Given the description of an element on the screen output the (x, y) to click on. 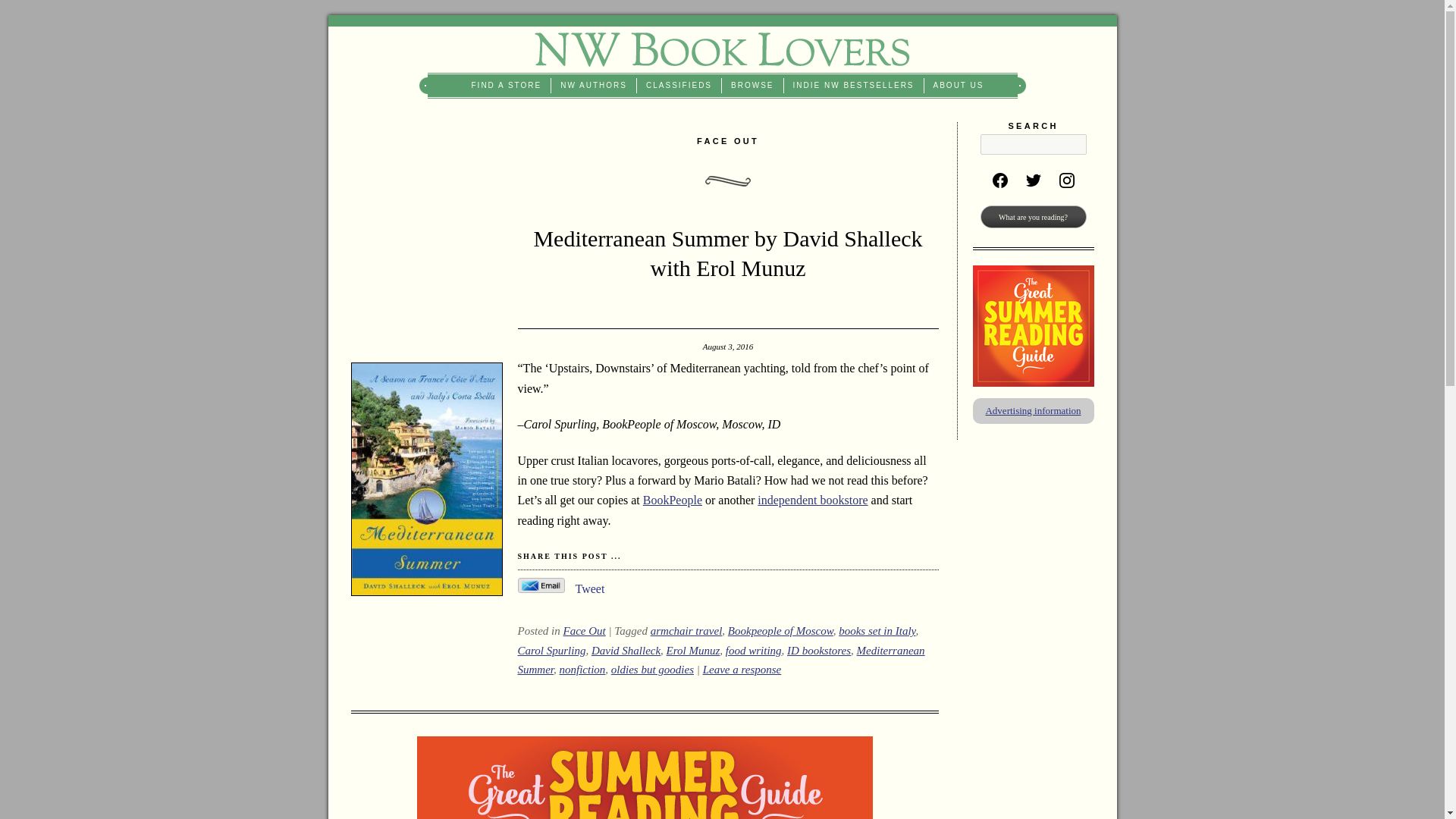
ABOUT US (958, 85)
books set in Italy (876, 630)
independent bookstore (812, 499)
BookPeople (672, 499)
CLASSIFIEDS (678, 85)
Tweet (589, 588)
INDIE NW BESTSELLERS (853, 85)
FIND A STORE (507, 85)
NW AUTHORS (593, 85)
BROWSE (752, 85)
